Given the description of an element on the screen output the (x, y) to click on. 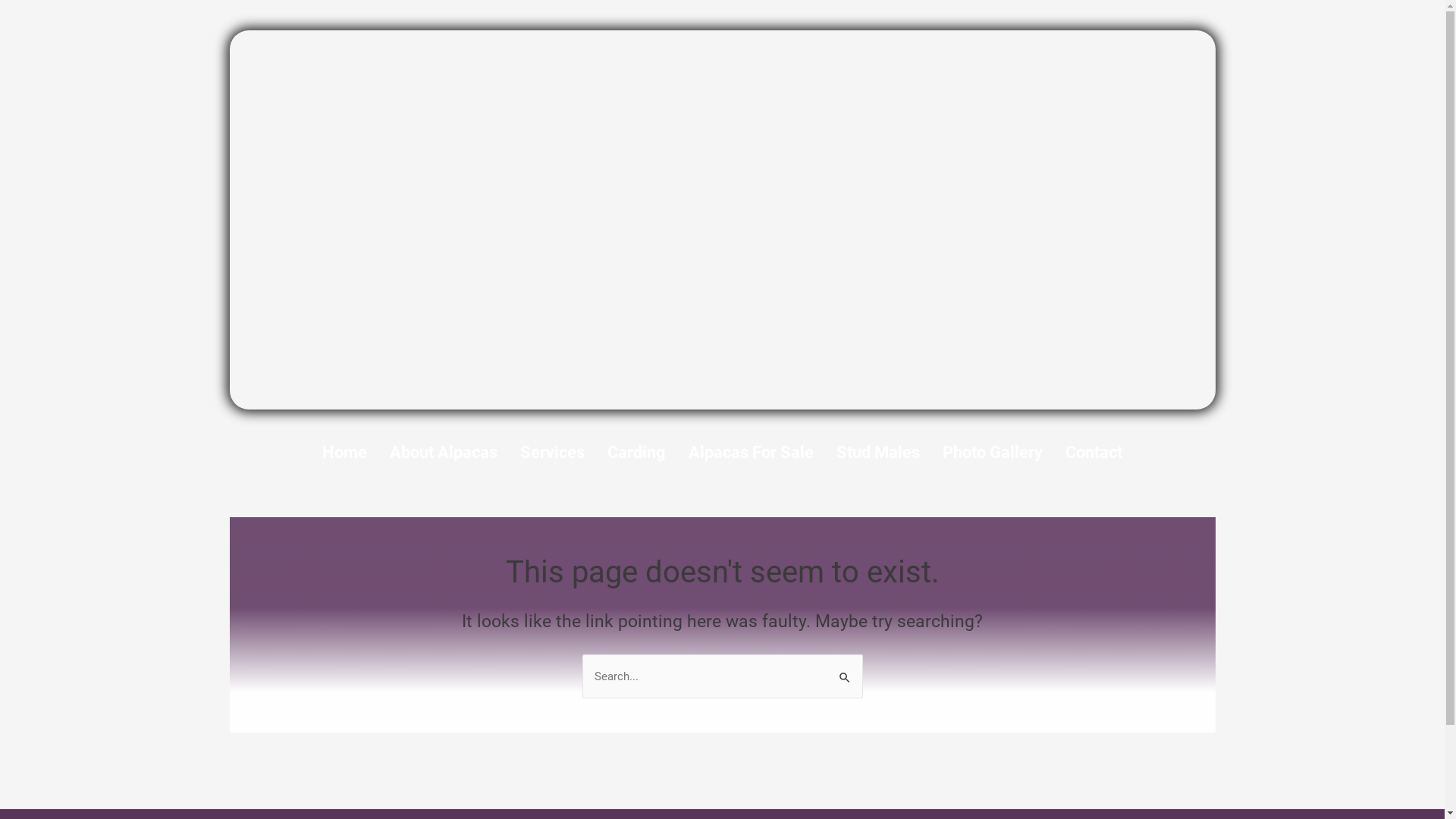
Search Element type: text (845, 669)
Contact Element type: text (1093, 451)
About Alpacas Element type: text (443, 451)
Photo Gallery Element type: text (992, 451)
Services Element type: text (552, 451)
Home Element type: text (344, 451)
Alpacas For Sale Element type: text (751, 451)
Stud Males Element type: text (878, 451)
Carding Element type: text (636, 451)
